Given the description of an element on the screen output the (x, y) to click on. 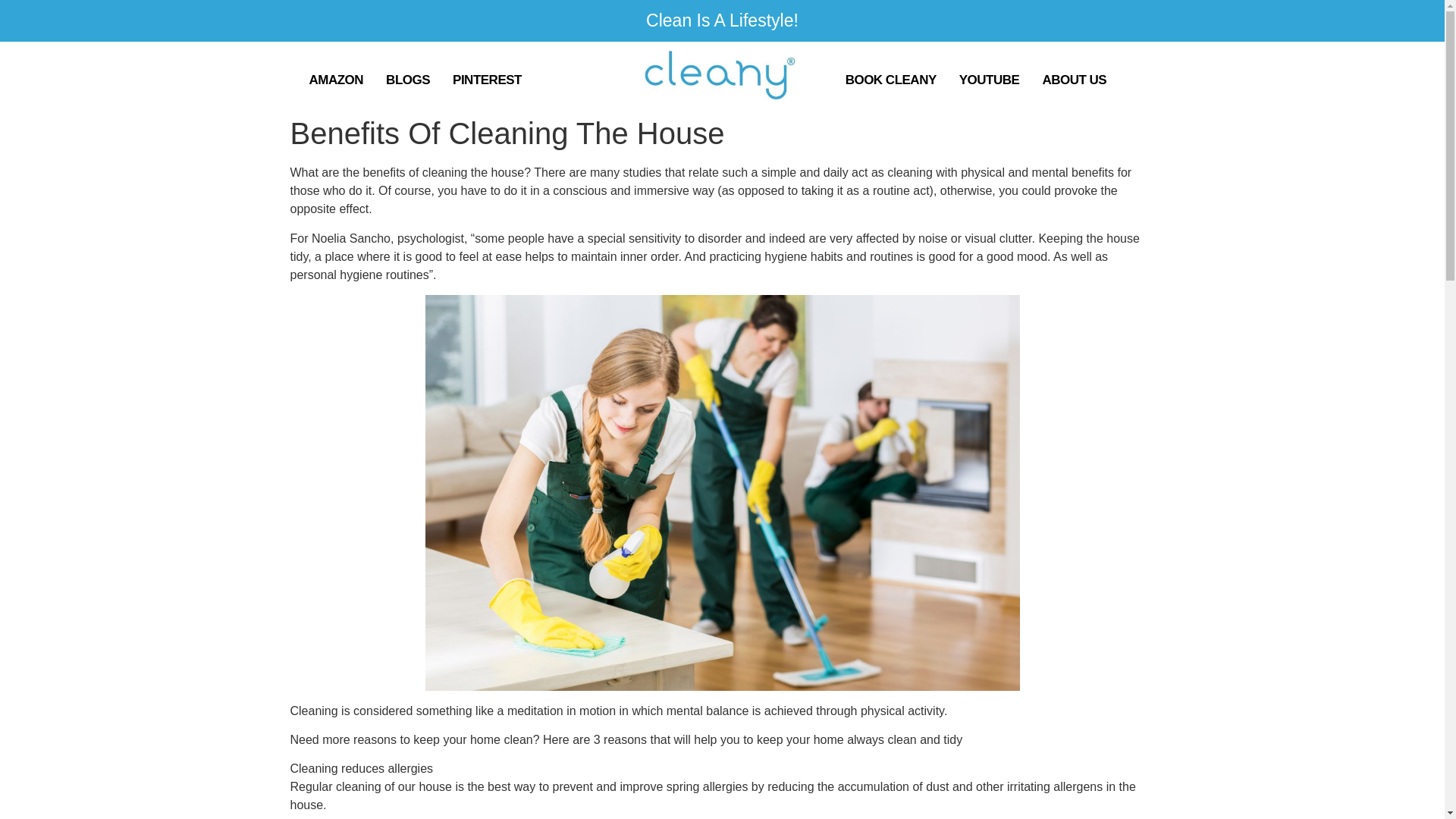
PINTEREST (486, 79)
ABOUT US (1074, 79)
BOOK CLEANY (890, 79)
AMAZON (335, 79)
BLOGS (407, 79)
YOUTUBE (988, 79)
